Given the description of an element on the screen output the (x, y) to click on. 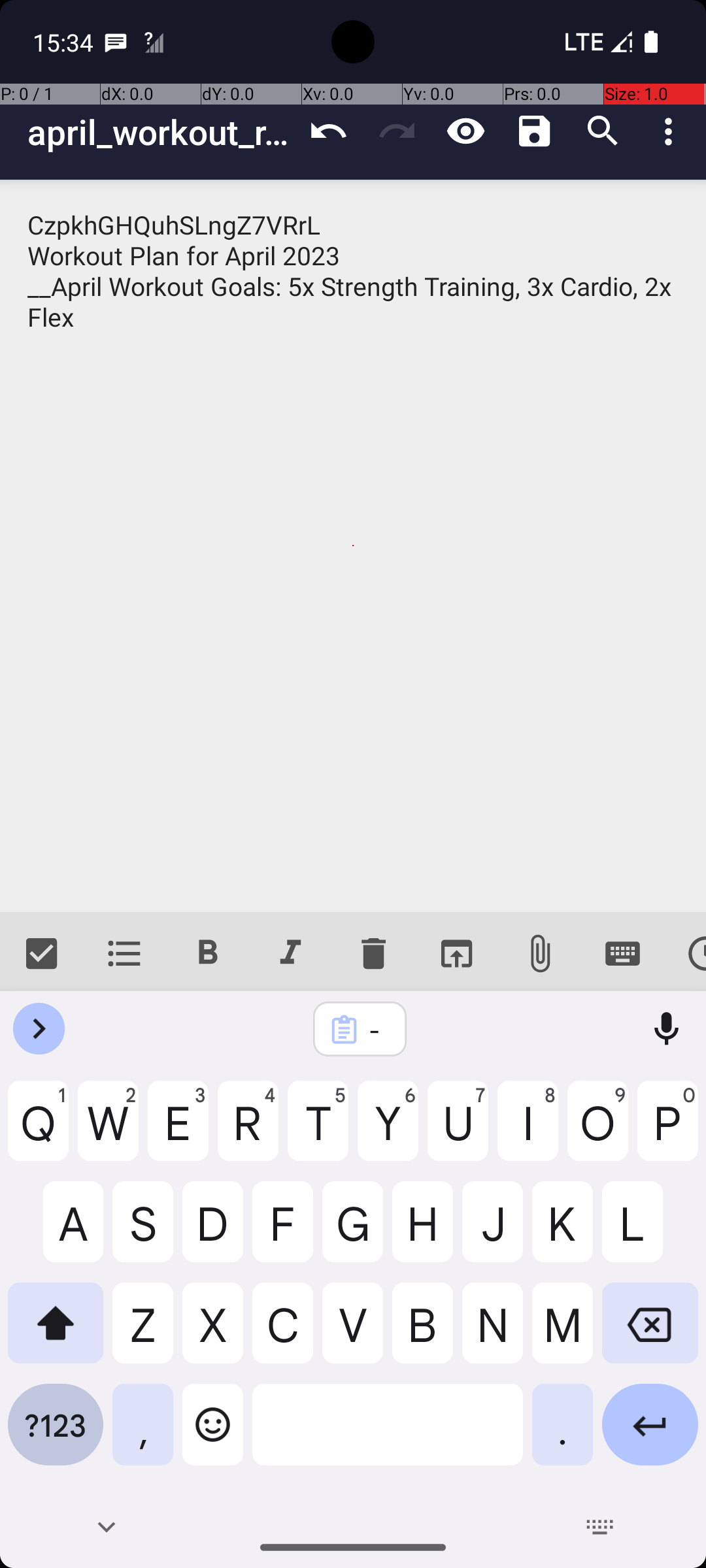
april_workout_routine_2023_01_01 Element type: android.widget.TextView (160, 131)
CzpkhGHQuhSLngZ7VRrL
Workout Plan for April 2023
__April Workout Goals: 5x Strength Training, 3x Cardio, 2x Flex
 Element type: android.widget.EditText (353, 545)
